Given the description of an element on the screen output the (x, y) to click on. 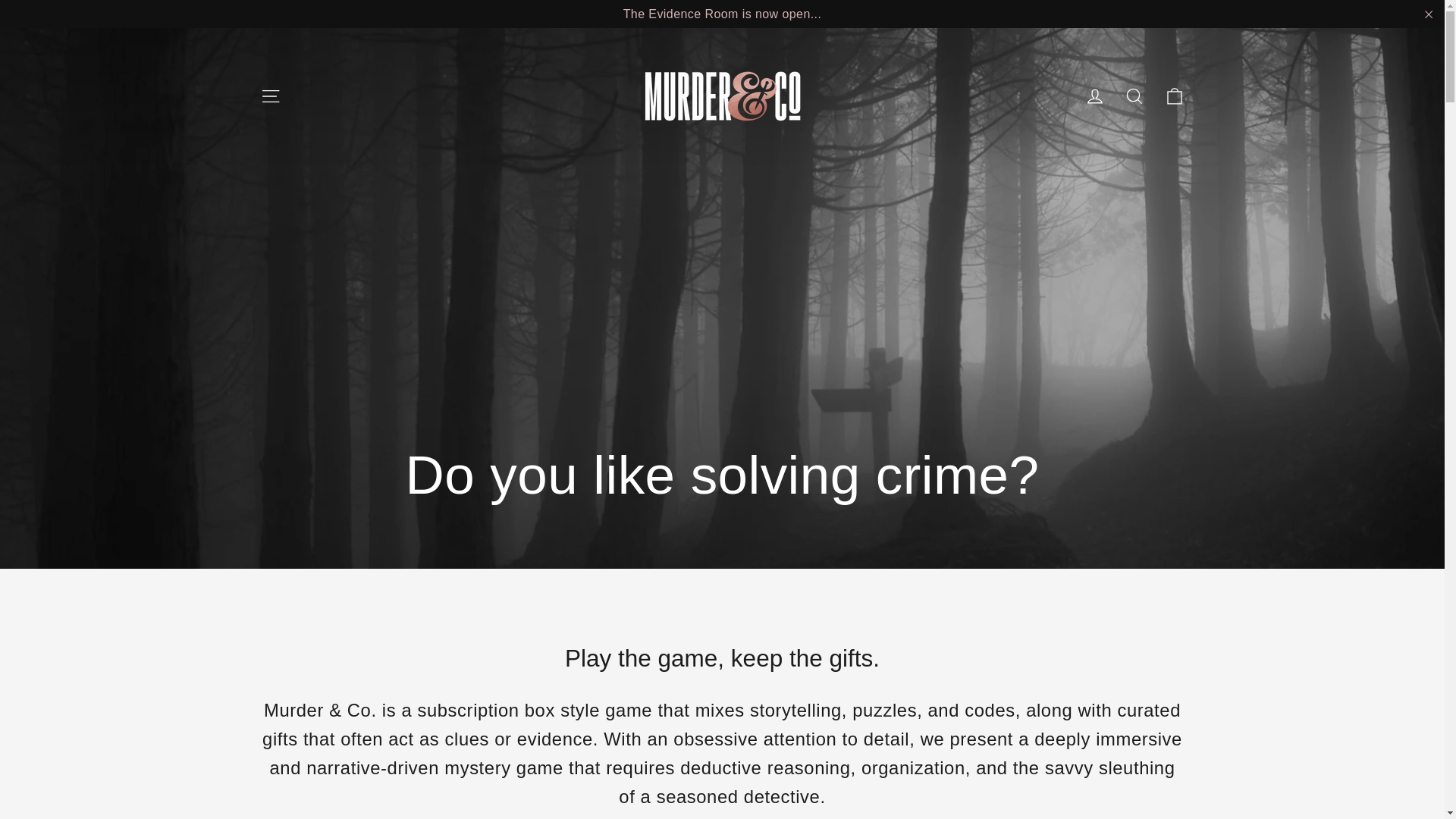
Log in (1095, 95)
Site navigation (269, 95)
Cart (1173, 95)
Search (1134, 95)
